Given the description of an element on the screen output the (x, y) to click on. 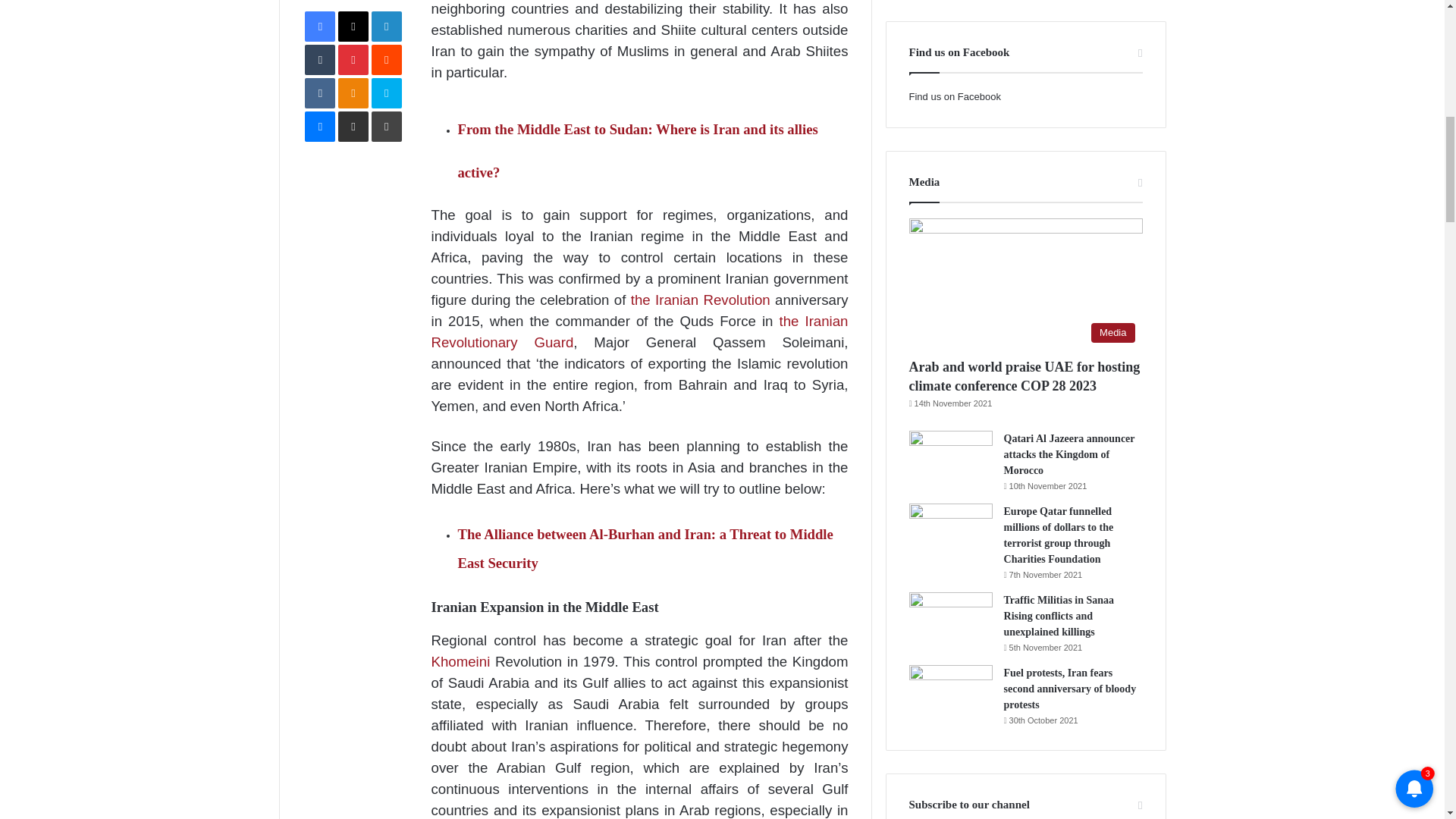
Messenger (319, 126)
Tumblr (319, 60)
X (352, 26)
Reddit (386, 60)
Facebook (319, 26)
Odnoklassniki (352, 92)
Khomeini (459, 661)
the Iranian Revolution (698, 299)
LinkedIn (386, 26)
VKontakte (319, 92)
the Iranian Revolutionary Guard (638, 331)
Pinterest (352, 60)
Skype (386, 92)
